Given the description of an element on the screen output the (x, y) to click on. 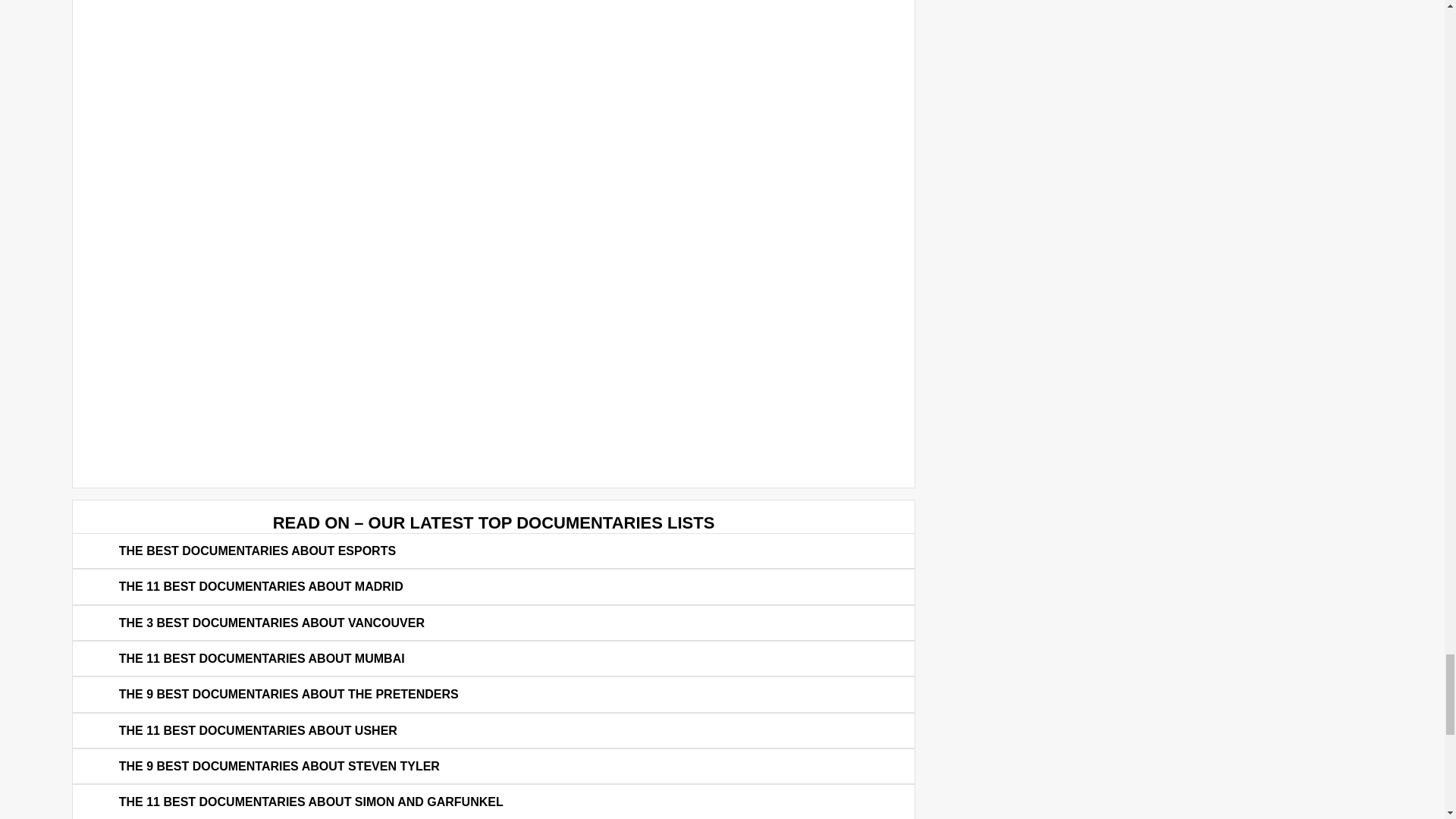
THE 11 BEST DOCUMENTARIES ABOUT SIMON AND GARFUNKEL (311, 802)
THE 11 BEST DOCUMENTARIES ABOUT MADRID (261, 586)
THE BEST DOCUMENTARIES ABOUT ESPORTS (257, 550)
THE 11 BEST DOCUMENTARIES ABOUT MUMBAI (261, 658)
THE 3 BEST DOCUMENTARIES ABOUT VANCOUVER (272, 622)
THE 9 BEST DOCUMENTARIES ABOUT STEVEN TYLER (279, 766)
THE 11 BEST DOCUMENTARIES ABOUT USHER (258, 730)
THE 9 BEST DOCUMENTARIES ABOUT THE PRETENDERS (288, 694)
